Given the description of an element on the screen output the (x, y) to click on. 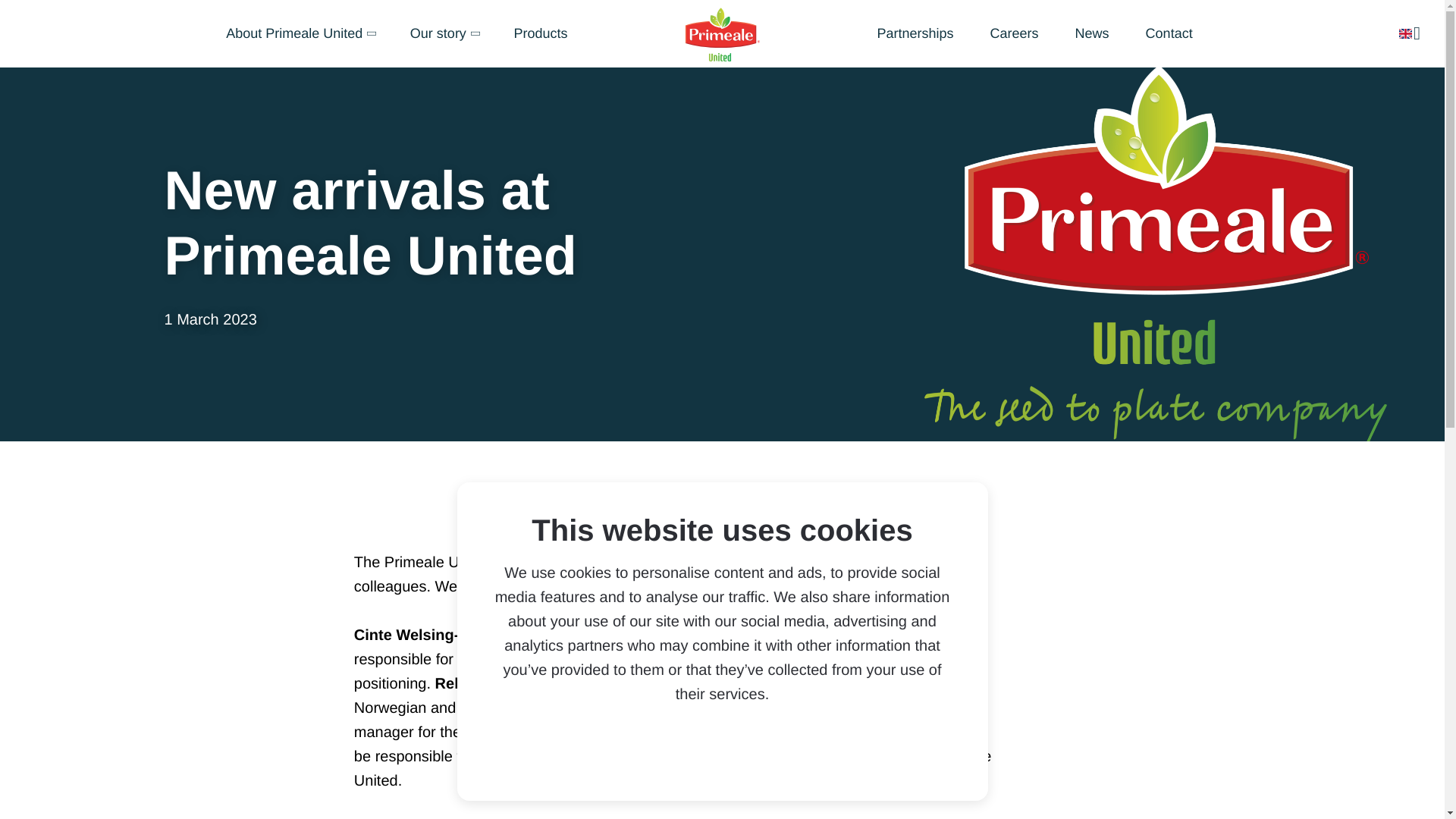
Products (540, 33)
Contact (1168, 33)
News (1091, 33)
Careers (1014, 33)
About Primeale United (299, 33)
Our story (443, 33)
SHOW DETAILS (782, 753)
ALLOW ALL (649, 753)
Partnerships (915, 33)
